Given the description of an element on the screen output the (x, y) to click on. 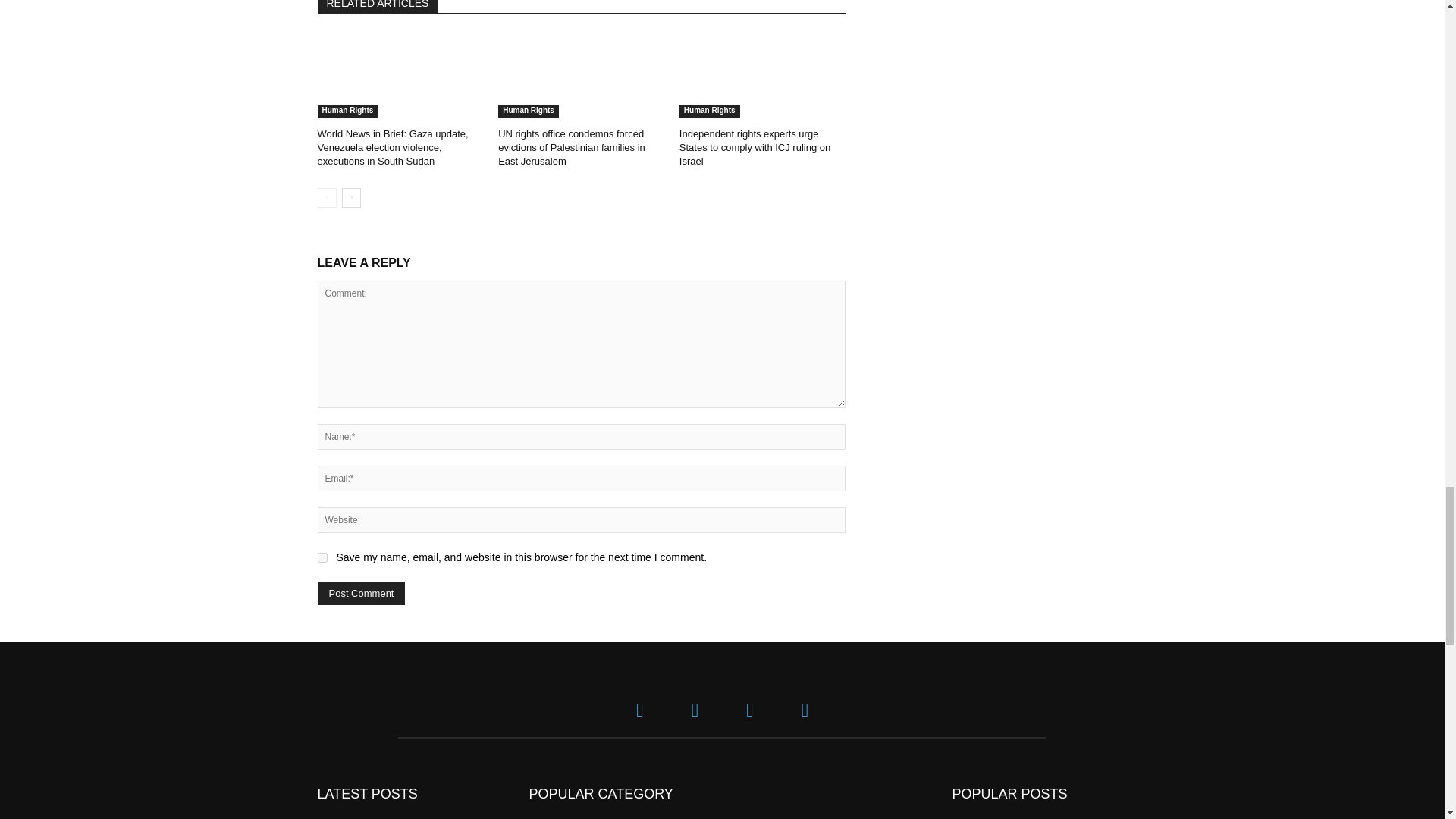
yes (321, 557)
Post Comment (360, 593)
